Given the description of an element on the screen output the (x, y) to click on. 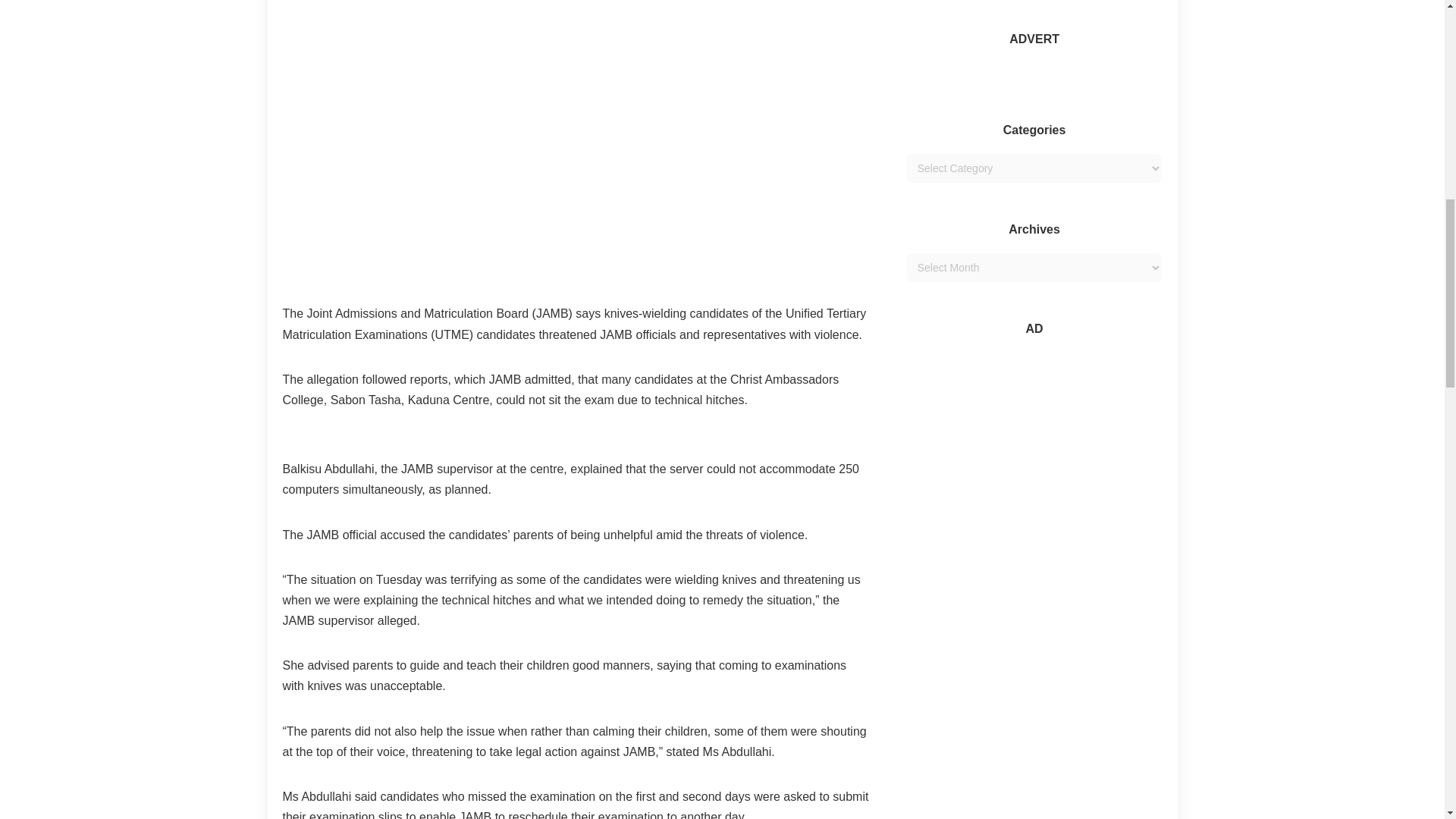
JAMB 1 (576, 141)
